Given the description of an element on the screen output the (x, y) to click on. 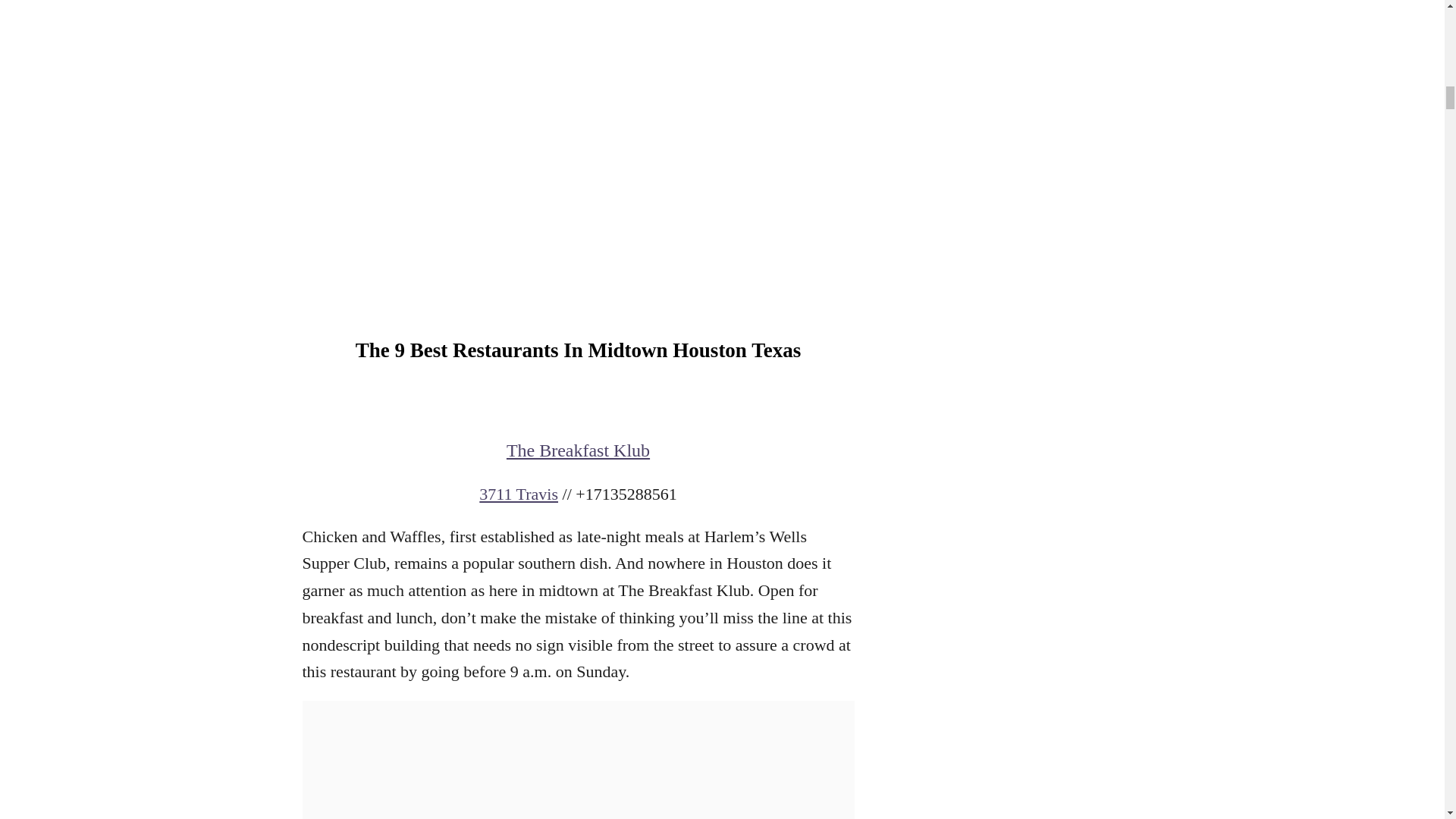
GetYourGuide Widget (577, 171)
